Given the description of an element on the screen output the (x, y) to click on. 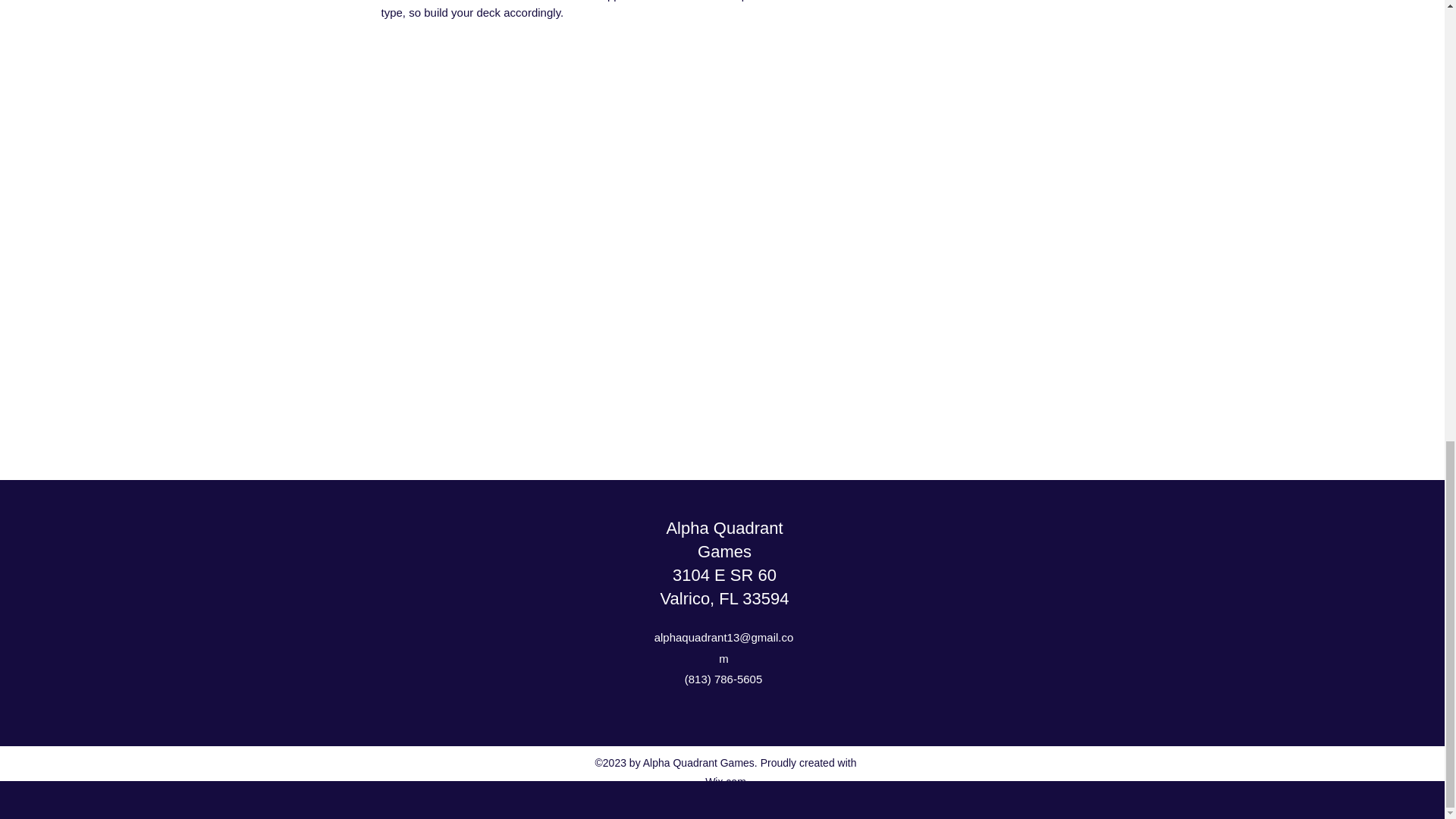
Alpha Quadrant Games (724, 539)
